Given the description of an element on the screen output the (x, y) to click on. 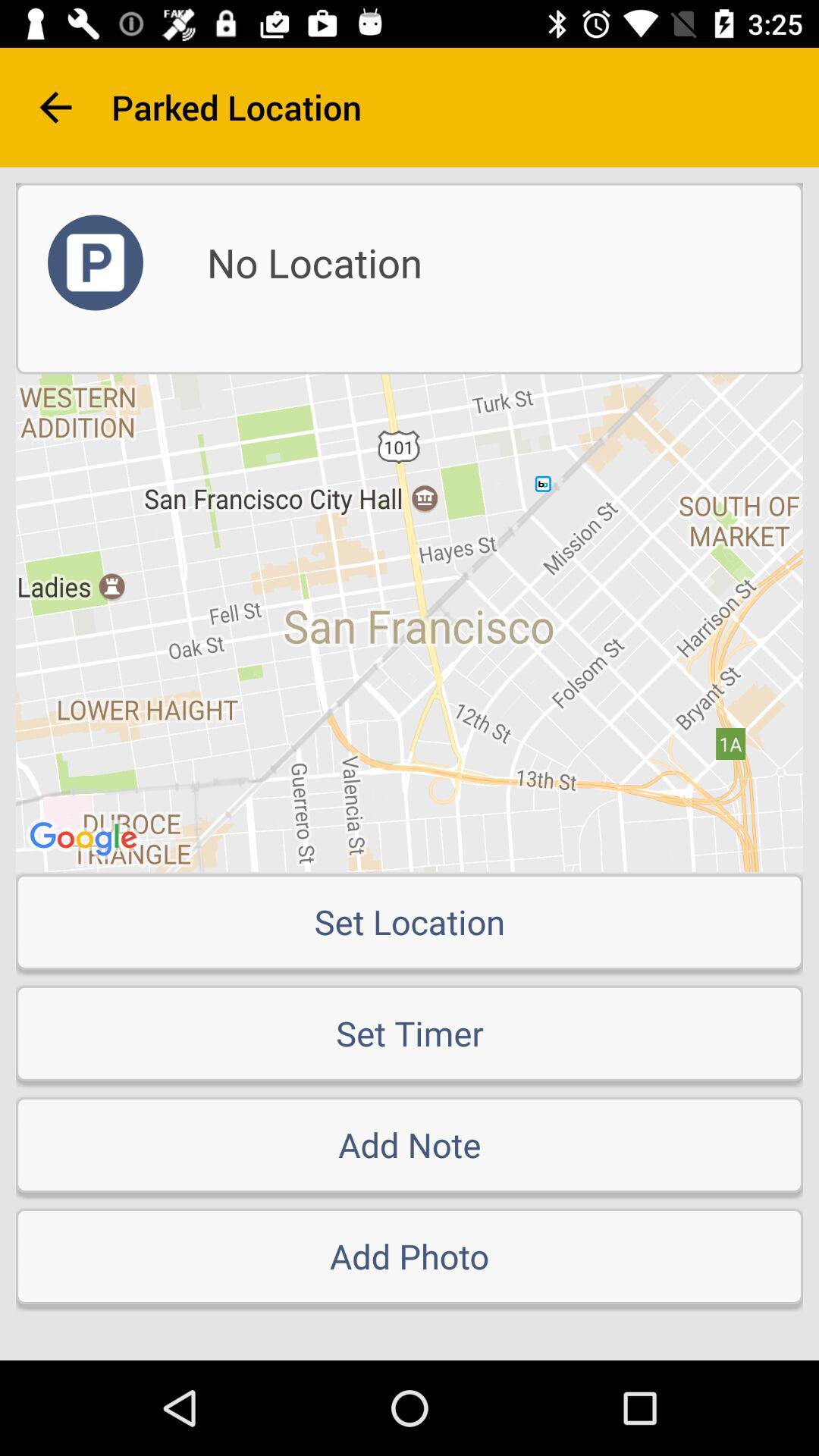
open the icon to the left of parked location item (55, 107)
